Given the description of an element on the screen output the (x, y) to click on. 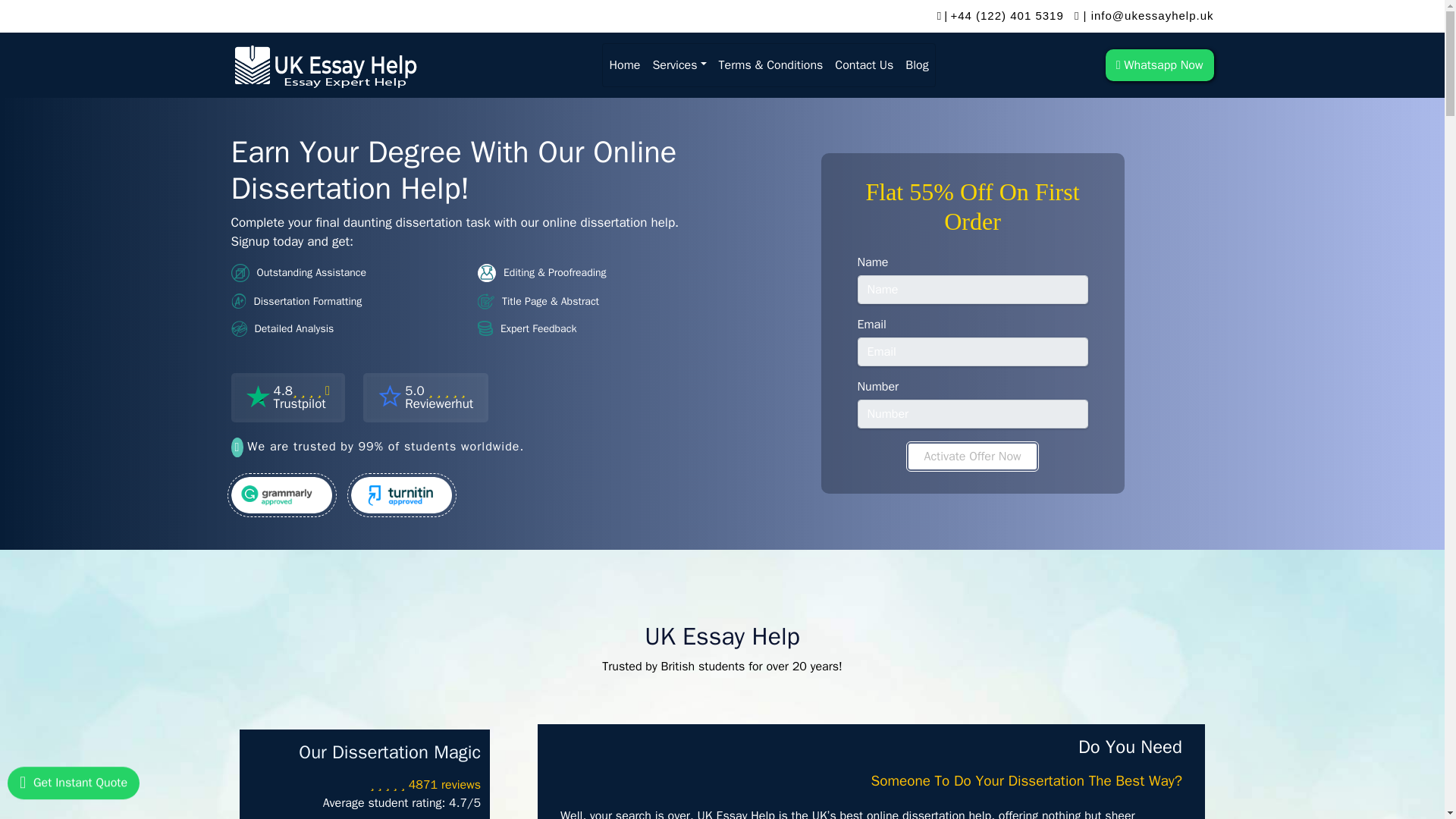
Services (678, 64)
Home (287, 397)
Contact Us (624, 64)
Whatsapp Now (863, 64)
Blog (1159, 64)
Activate Offer Now (916, 64)
